Given the description of an element on the screen output the (x, y) to click on. 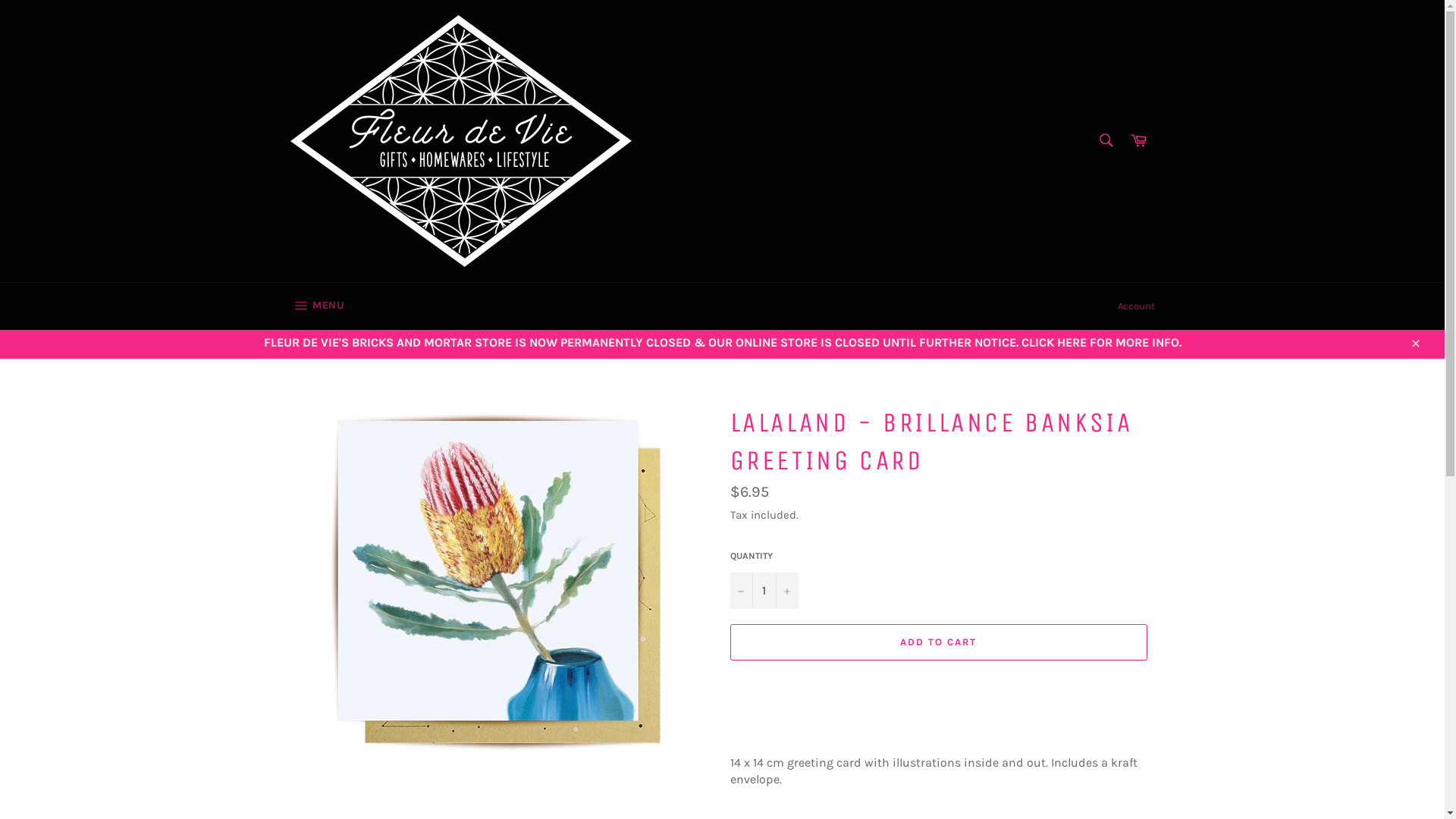
Account Element type: text (1136, 306)
MENU
SITE NAVIGATION Element type: text (316, 305)
Search Element type: text (1105, 140)
ADD TO CART Element type: text (937, 642)
+ Element type: text (786, 590)
Close Element type: text (1414, 342)
Cart Element type: text (1138, 141)
